Given the description of an element on the screen output the (x, y) to click on. 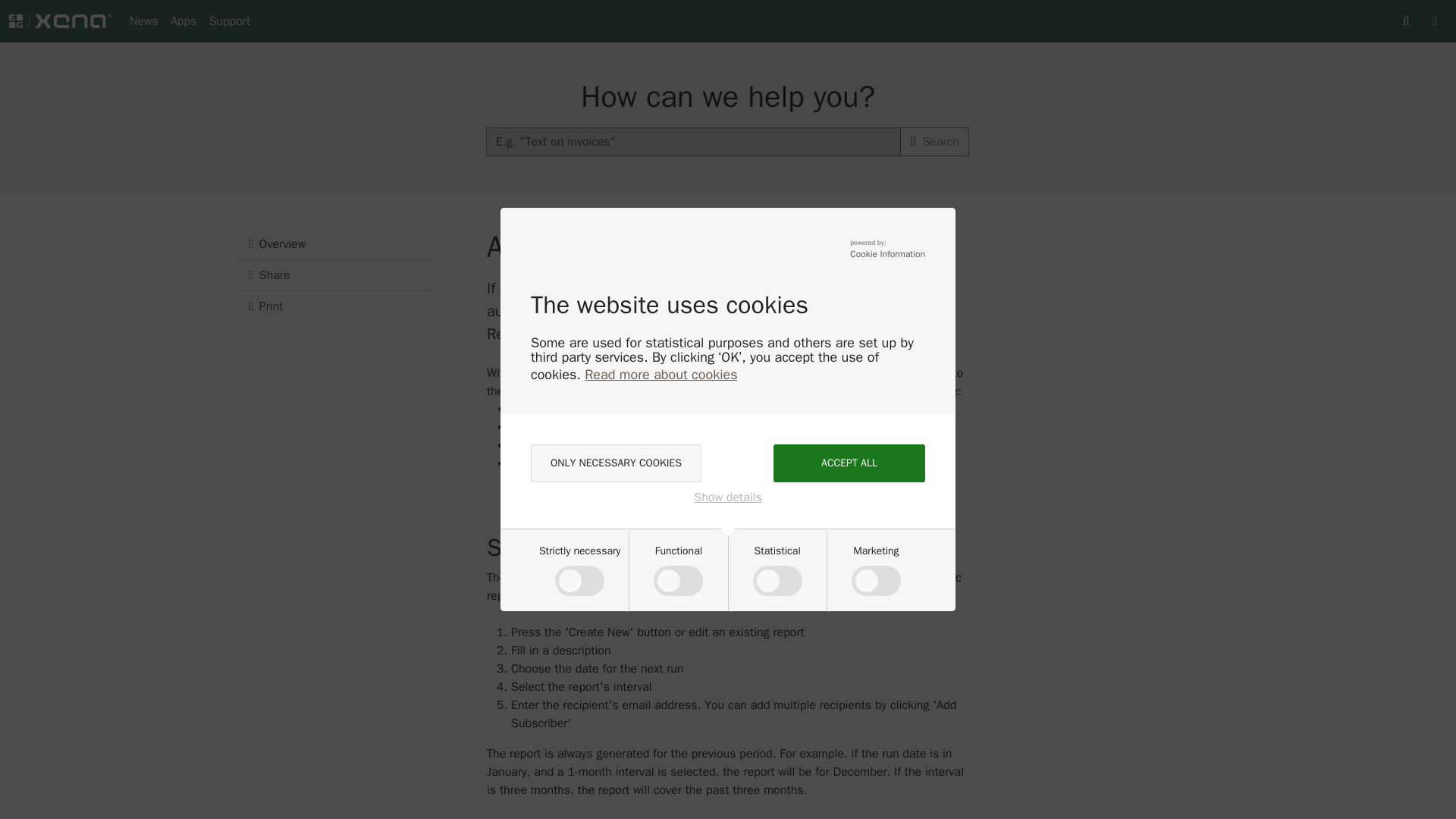
Skip to content (41, 11)
ACCEPT ALL (848, 463)
ONLY NECESSARY COOKIES (616, 463)
Show details (727, 497)
Read more about cookies (660, 374)
Cookie Information (887, 254)
